Given the description of an element on the screen output the (x, y) to click on. 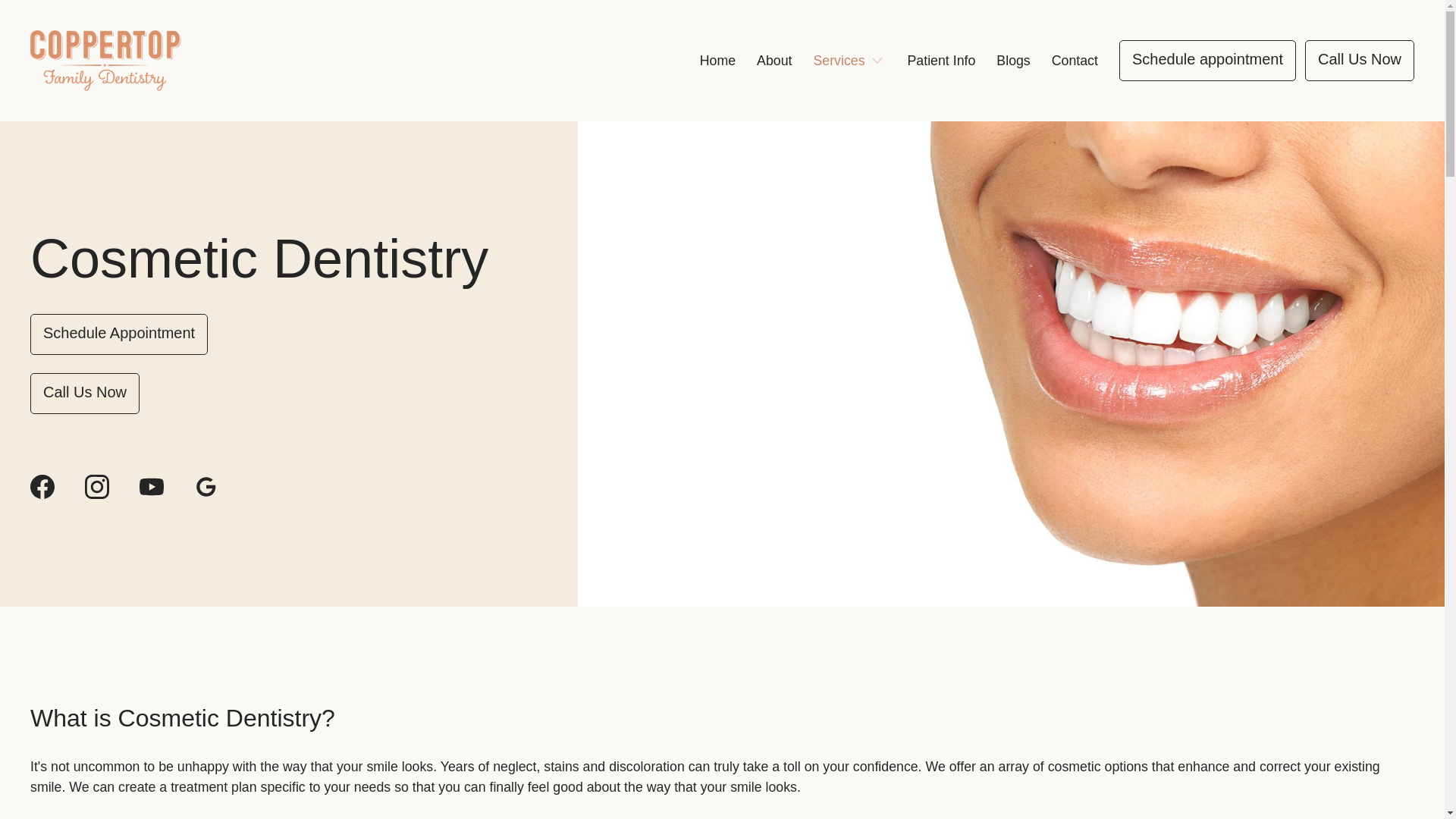
Home (717, 60)
About (774, 60)
